Given the description of an element on the screen output the (x, y) to click on. 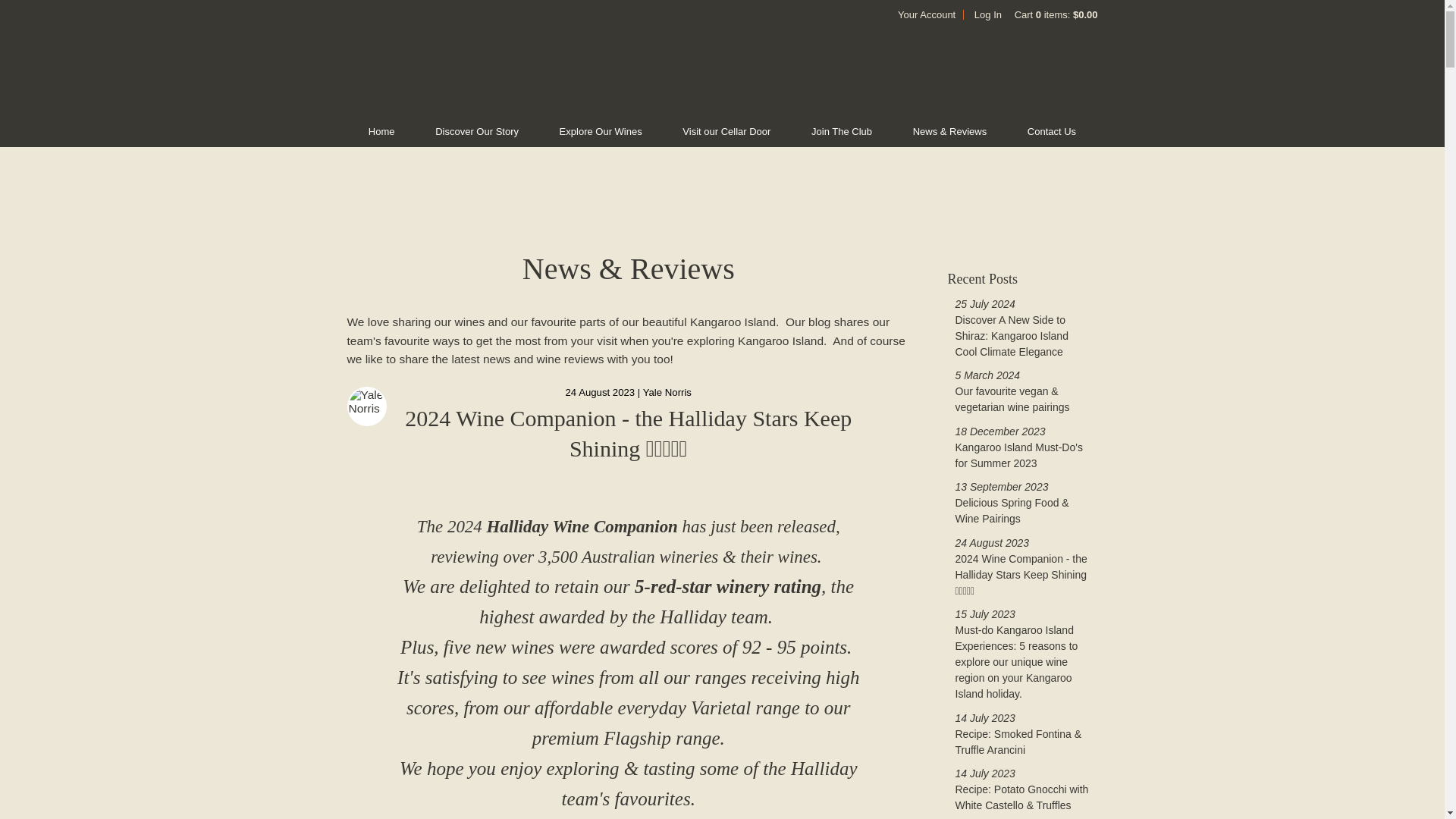
Explore Our Wines (600, 131)
Join The Club (841, 131)
Yale Norris (667, 392)
Log In (987, 14)
Discover Our Story (476, 131)
The Islander Estate Vineyards (721, 73)
Contact Us (1051, 131)
Your Account (926, 14)
Home (381, 131)
Visit our Cellar Door (726, 131)
